Given the description of an element on the screen output the (x, y) to click on. 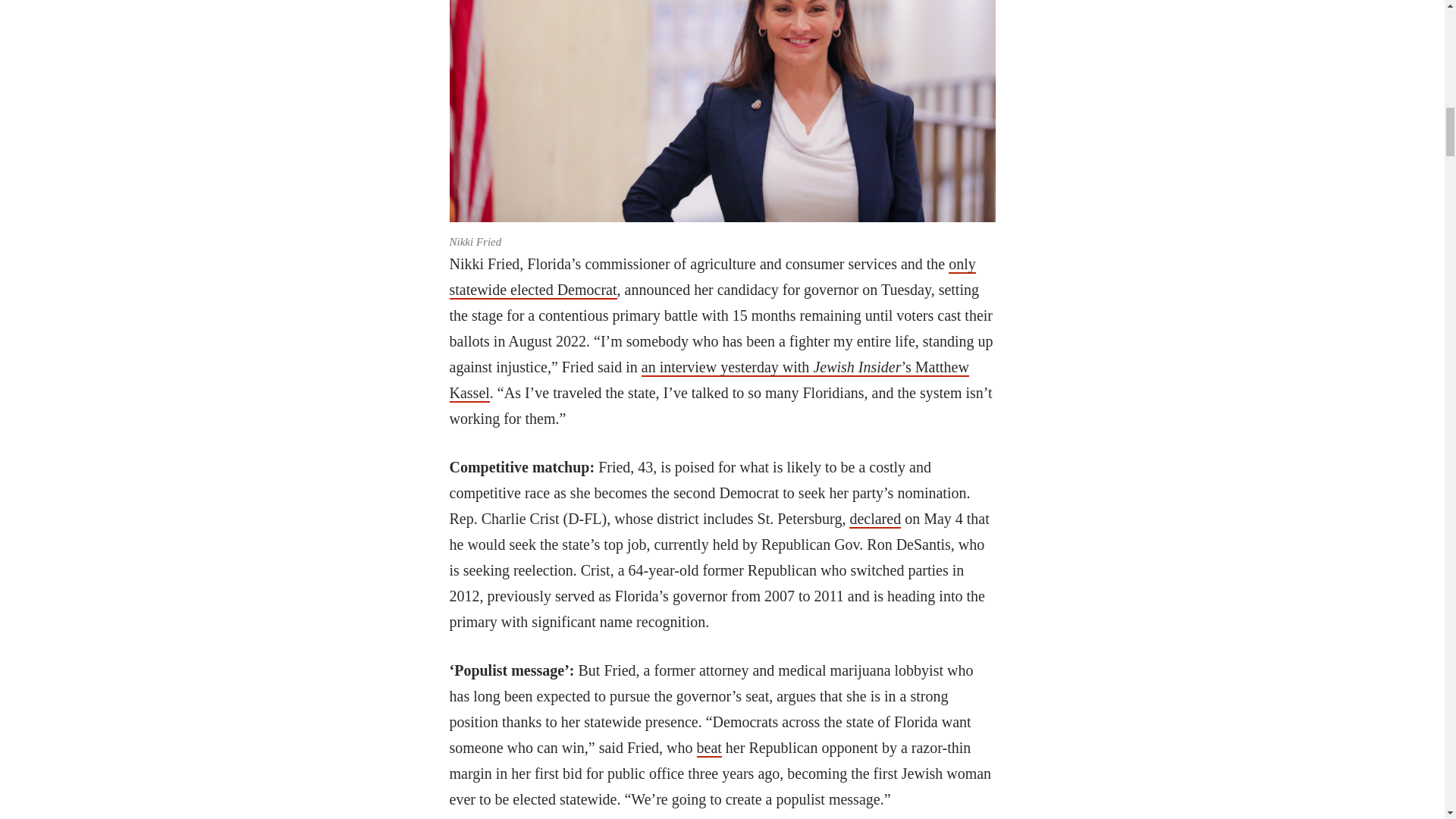
only statewide elected Democrat (711, 277)
